Given the description of an element on the screen output the (x, y) to click on. 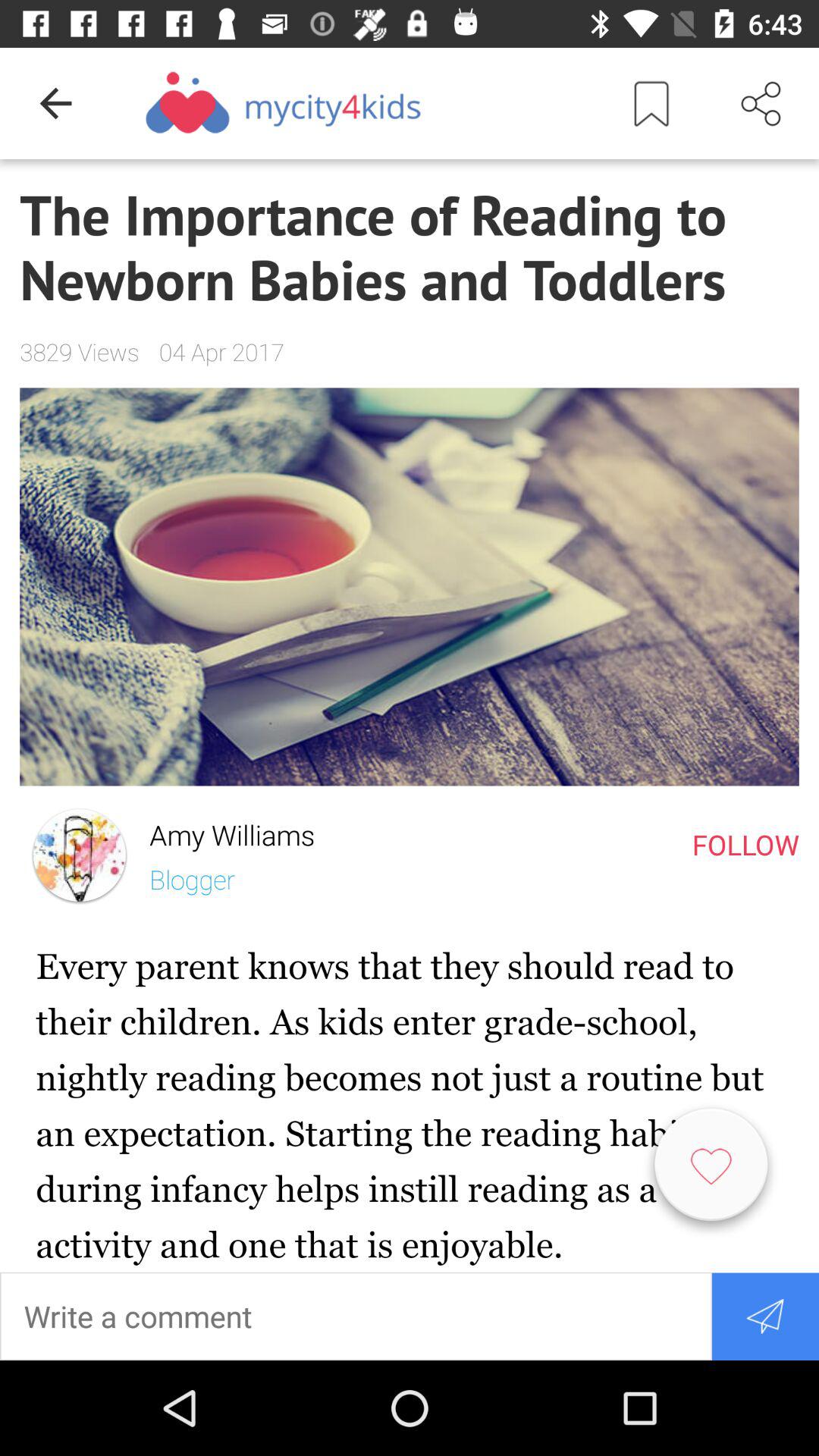
choose the icon above blogger (222, 831)
